Given the description of an element on the screen output the (x, y) to click on. 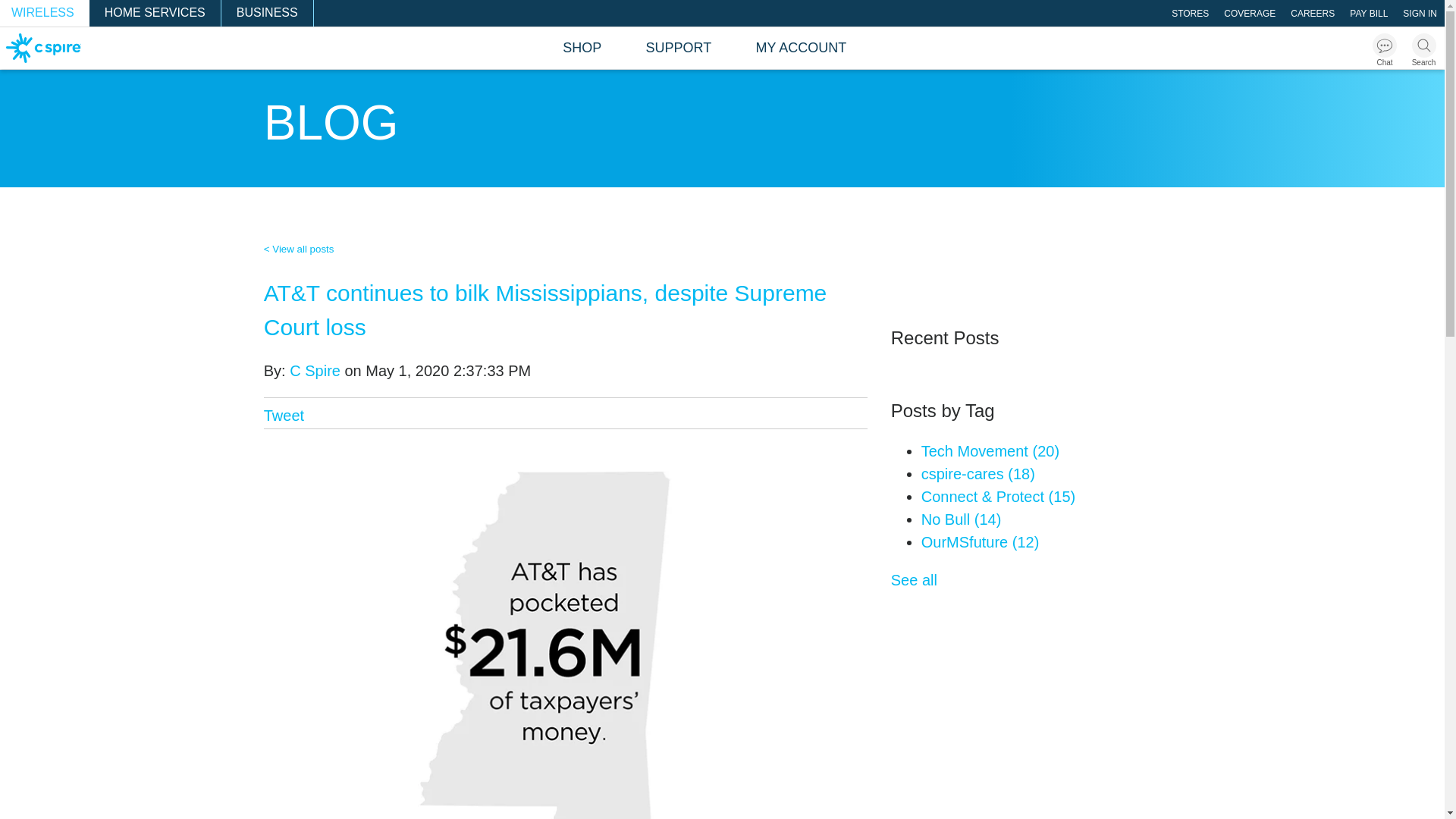
cspirelogo (43, 47)
PAY BILL (1368, 13)
COVERAGE (1248, 13)
CAREERS (1312, 13)
STORES (1189, 13)
BUSINESS (267, 13)
SHOP (581, 47)
WIRELESS (44, 13)
HOME SERVICES (154, 13)
